Given the description of an element on the screen output the (x, y) to click on. 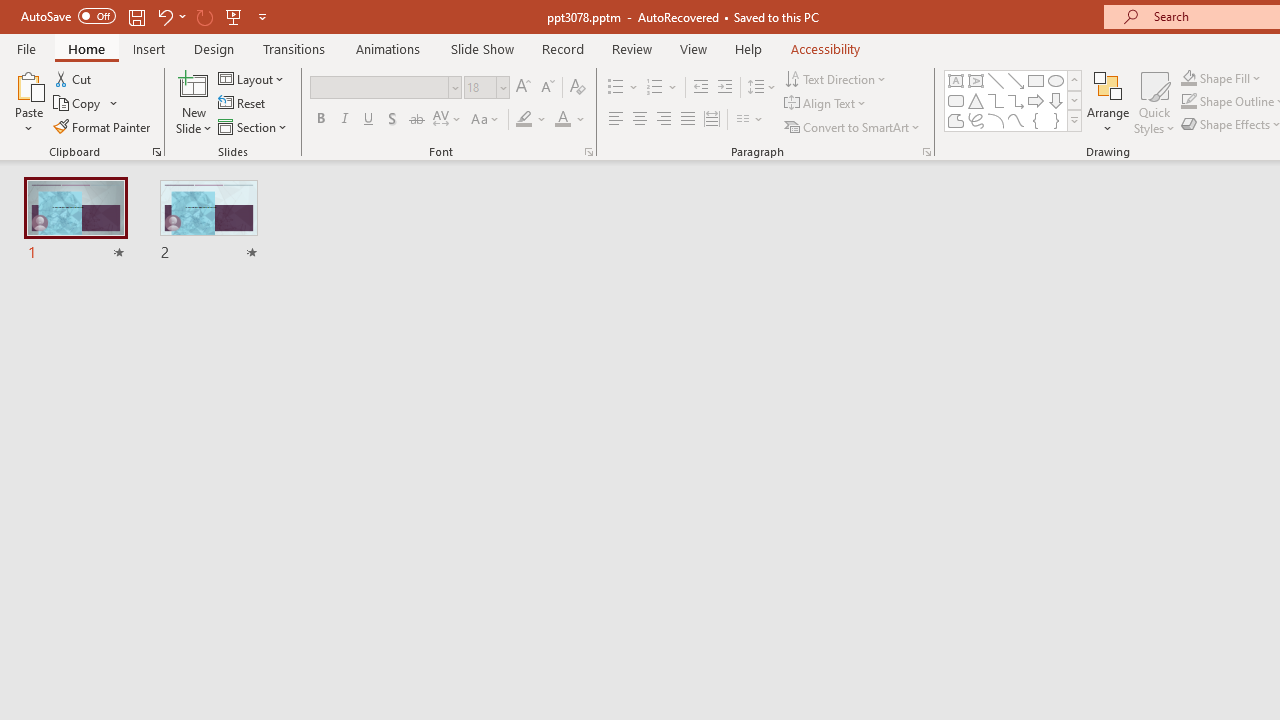
Line Spacing (762, 87)
Clear Formatting (577, 87)
Left Brace (1035, 120)
Decrease Indent (700, 87)
Italic (344, 119)
AutomationID: ShapesInsertGallery (1014, 100)
Distributed (712, 119)
Freeform: Shape (955, 120)
Oval (1055, 80)
